Given the description of an element on the screen output the (x, y) to click on. 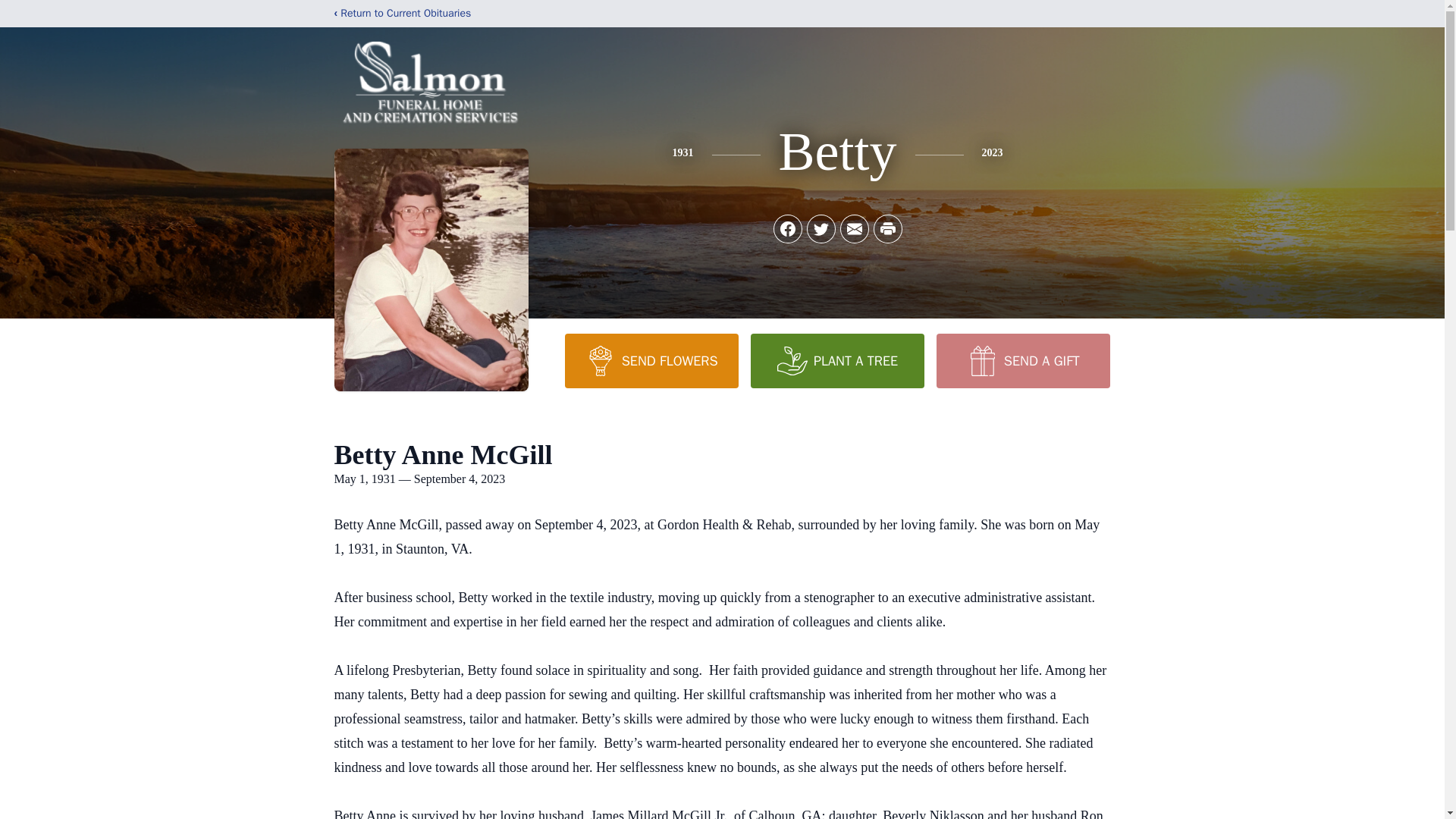
SEND FLOWERS (651, 360)
SEND A GIFT (1022, 360)
PLANT A TREE (837, 360)
